Given the description of an element on the screen output the (x, y) to click on. 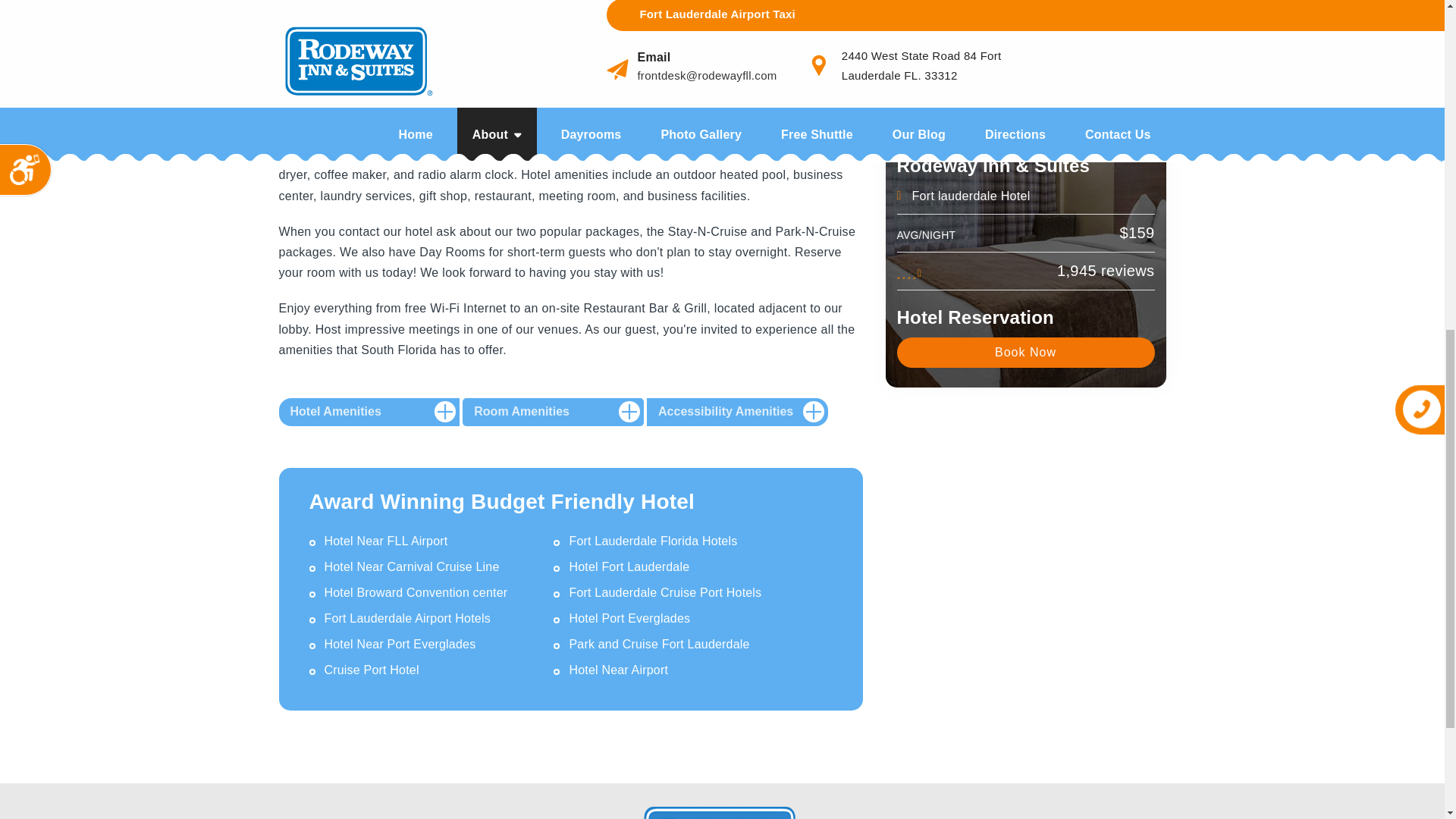
Room Amenities (553, 411)
Hotel Amenities (369, 411)
